Given the description of an element on the screen output the (x, y) to click on. 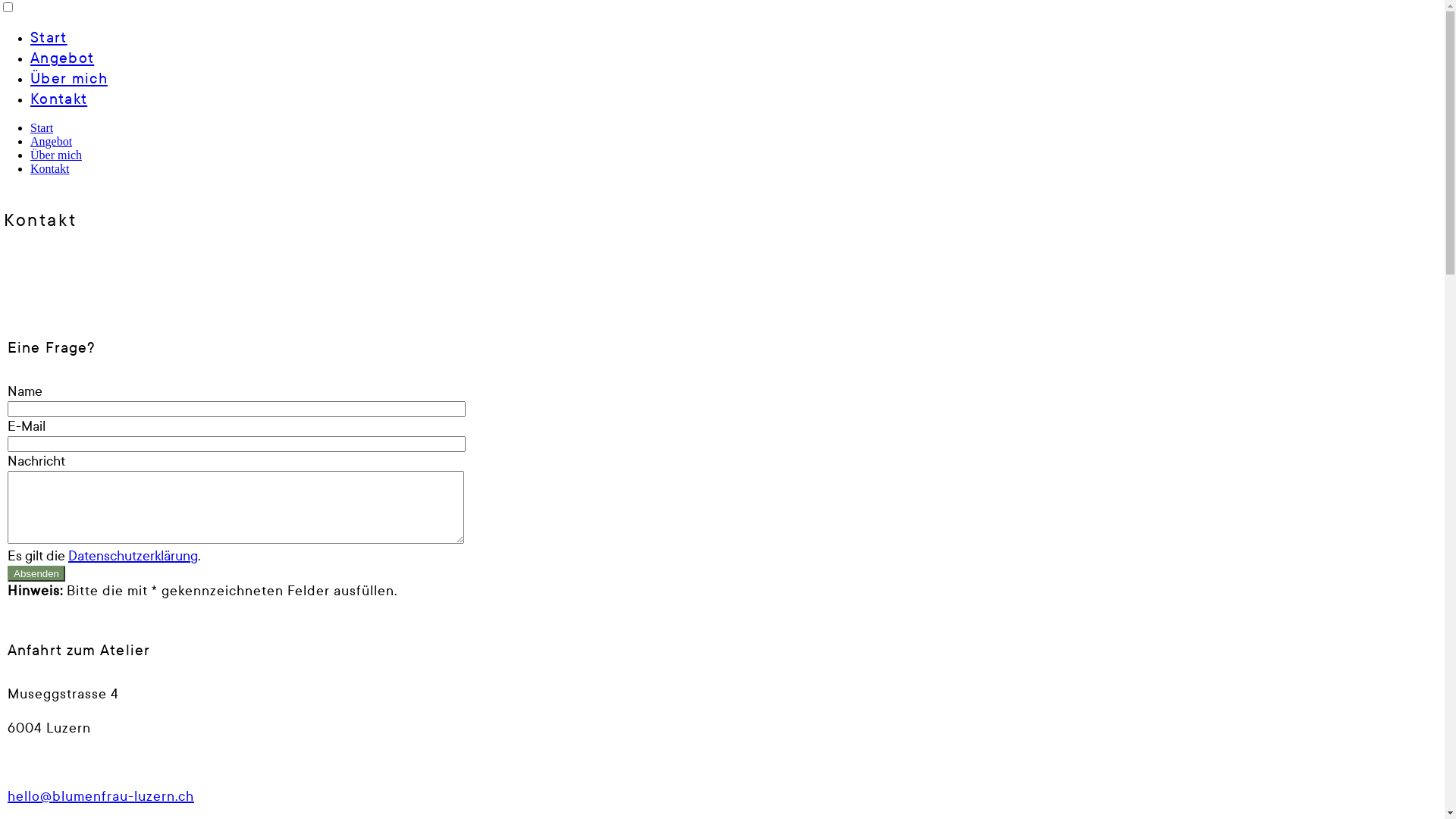
hello@blumenfrau-luzern.ch Element type: text (100, 796)
Angebot Element type: text (51, 140)
Absenden Element type: text (36, 573)
Start Element type: text (41, 127)
Kontakt Element type: text (58, 98)
Kontakt Element type: text (49, 168)
Angebot Element type: text (62, 57)
Start Element type: text (48, 37)
